Given the description of an element on the screen output the (x, y) to click on. 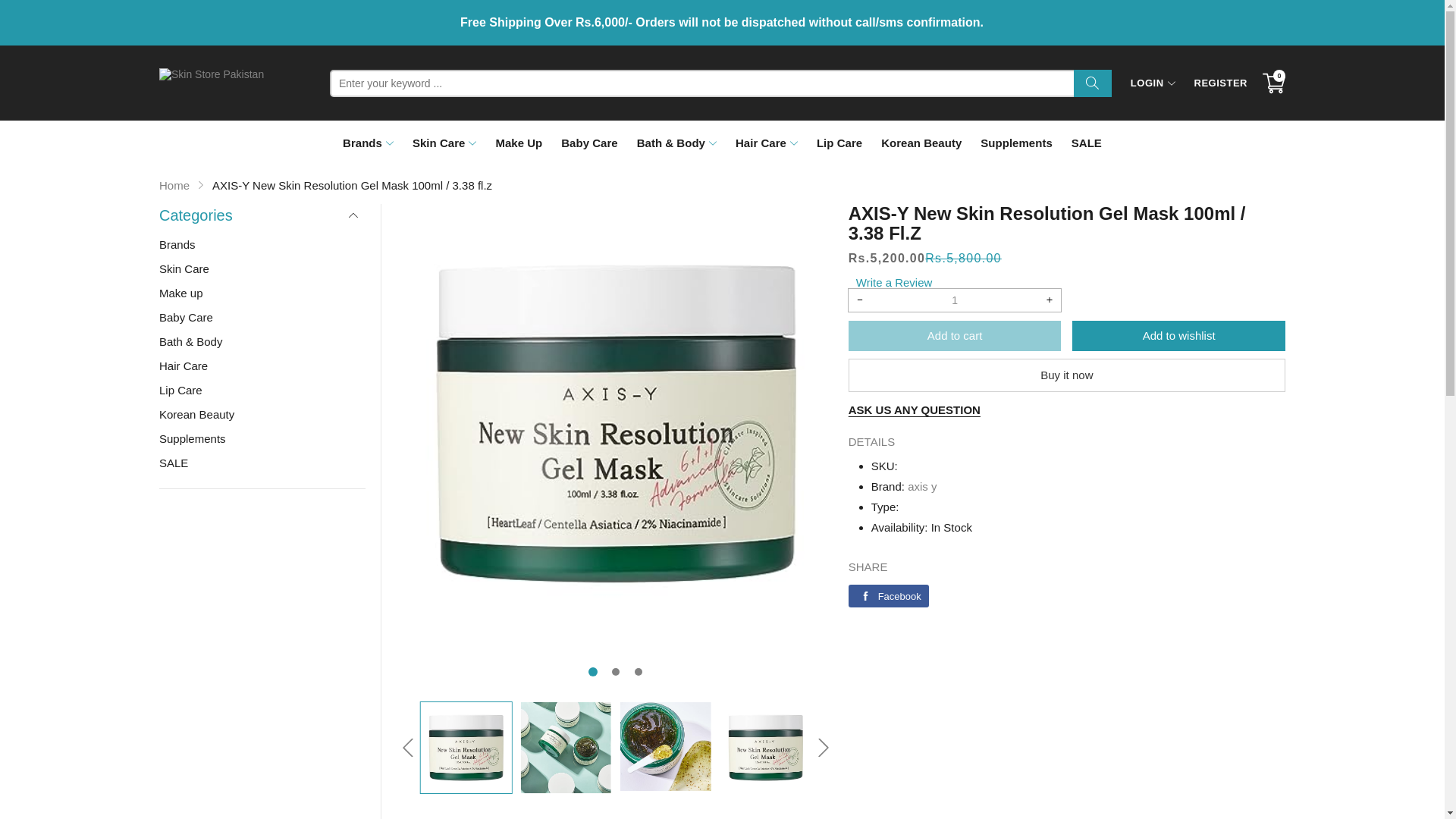
1 (954, 300)
Add to wishlist (1178, 335)
Add to wishlist (1178, 336)
Back to the frontpage (173, 185)
